Given the description of an element on the screen output the (x, y) to click on. 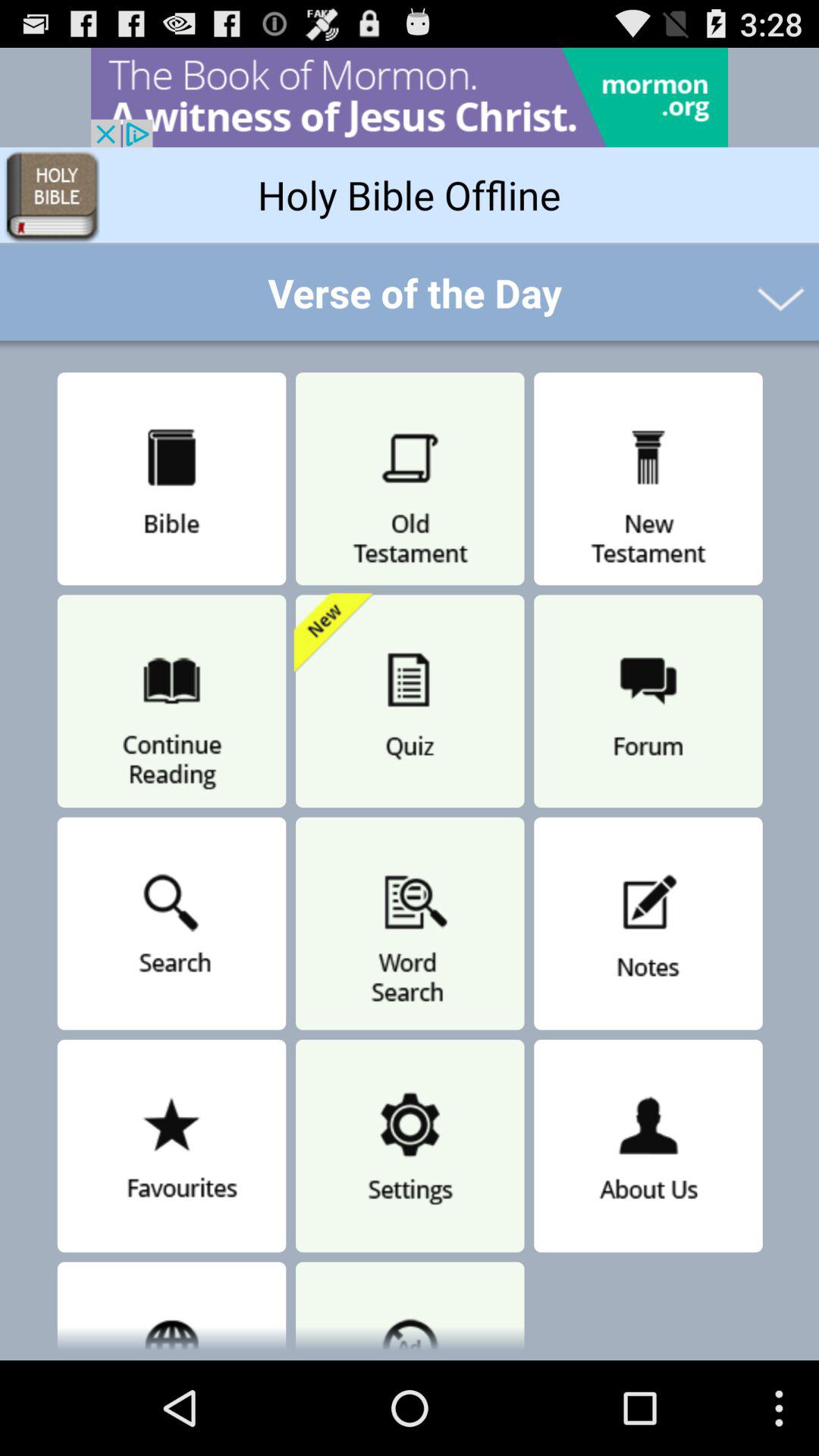
advertisement (409, 97)
